Given the description of an element on the screen output the (x, y) to click on. 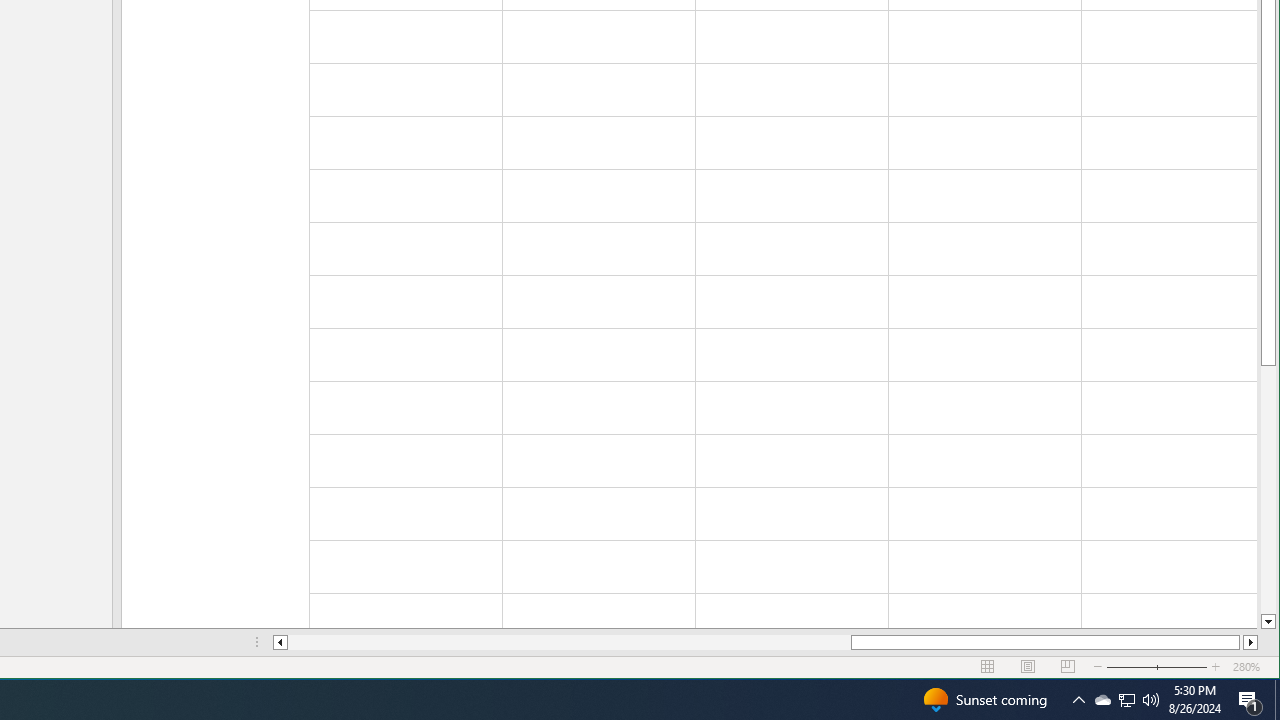
Line down (1268, 622)
Normal (987, 667)
Page down (1268, 489)
Class: NetUIScrollBar (765, 642)
Q2790: 100% (1151, 699)
Action Center, 1 new notification (1250, 699)
Show desktop (1102, 699)
Zoom Out (1277, 699)
Column right (1144, 667)
Zoom In (1250, 642)
Column left (1215, 667)
User Promoted Notification Area (279, 642)
Notification Chevron (1126, 699)
